Given the description of an element on the screen output the (x, y) to click on. 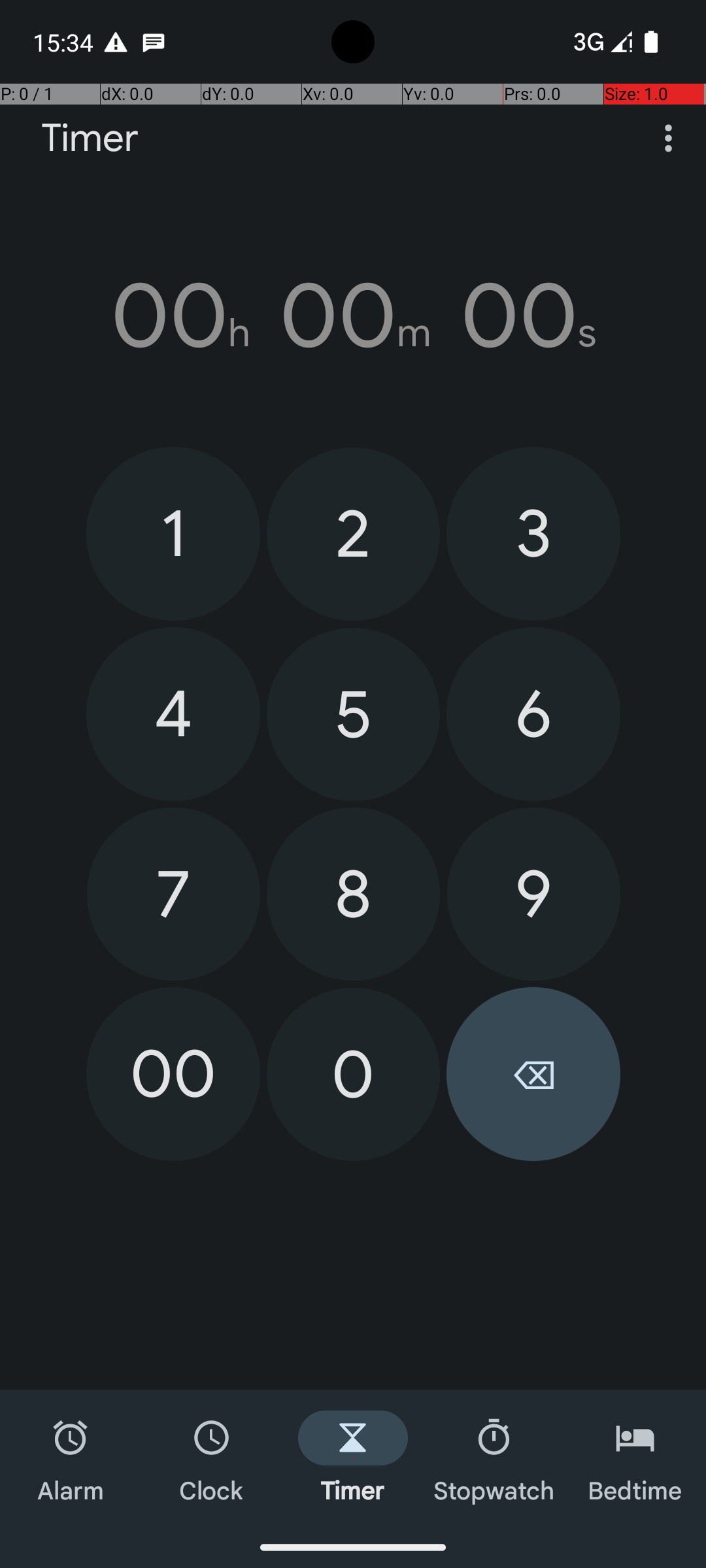
00h 00m 00s Element type: android.widget.TextView (353, 315)
⌫ Element type: android.widget.Button (533, 1073)
